Given the description of an element on the screen output the (x, y) to click on. 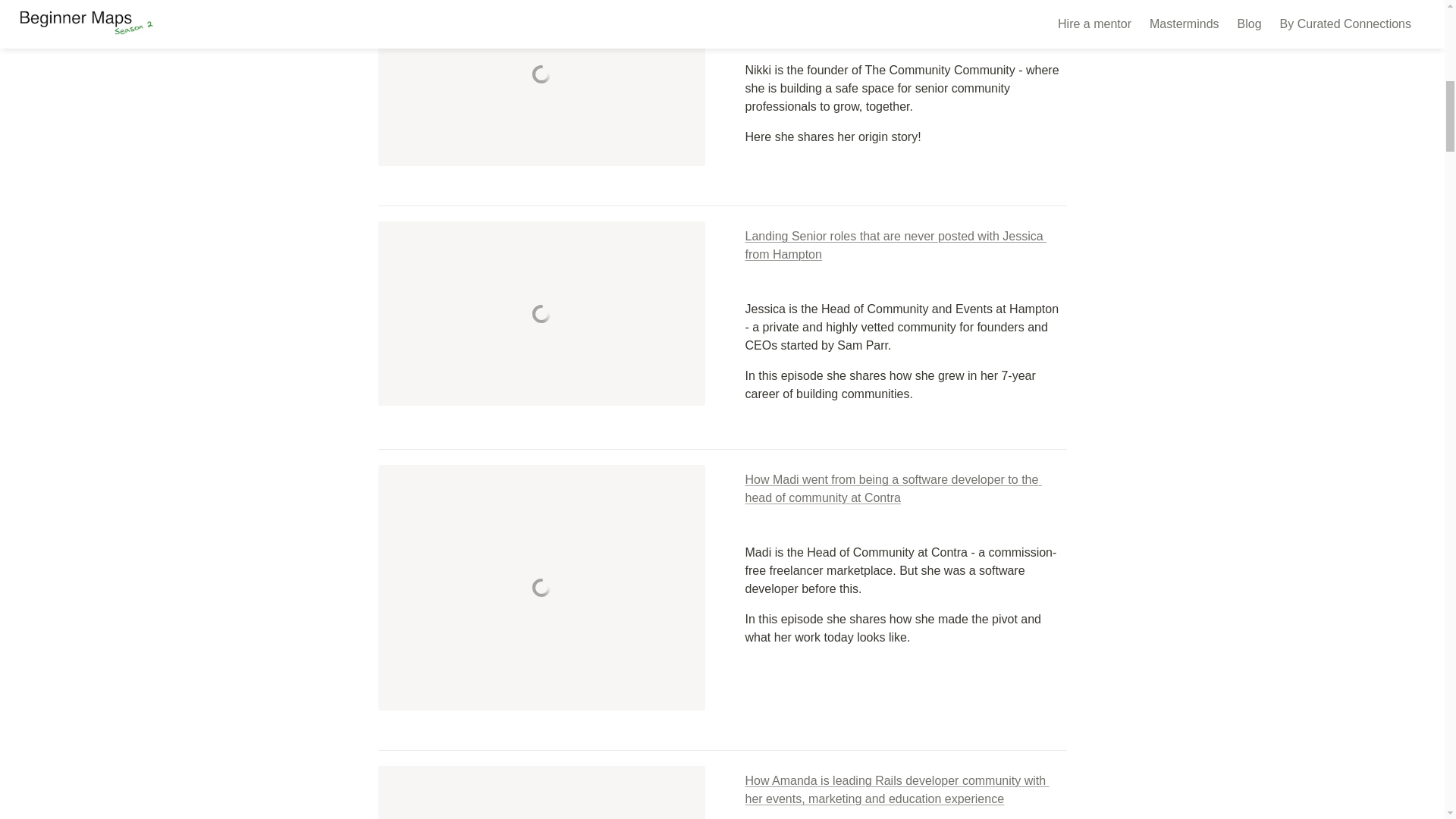
www.youtube.com (540, 792)
www.youtube.com (540, 83)
www.youtube.com (540, 312)
www.youtube.com (540, 587)
